Given the description of an element on the screen output the (x, y) to click on. 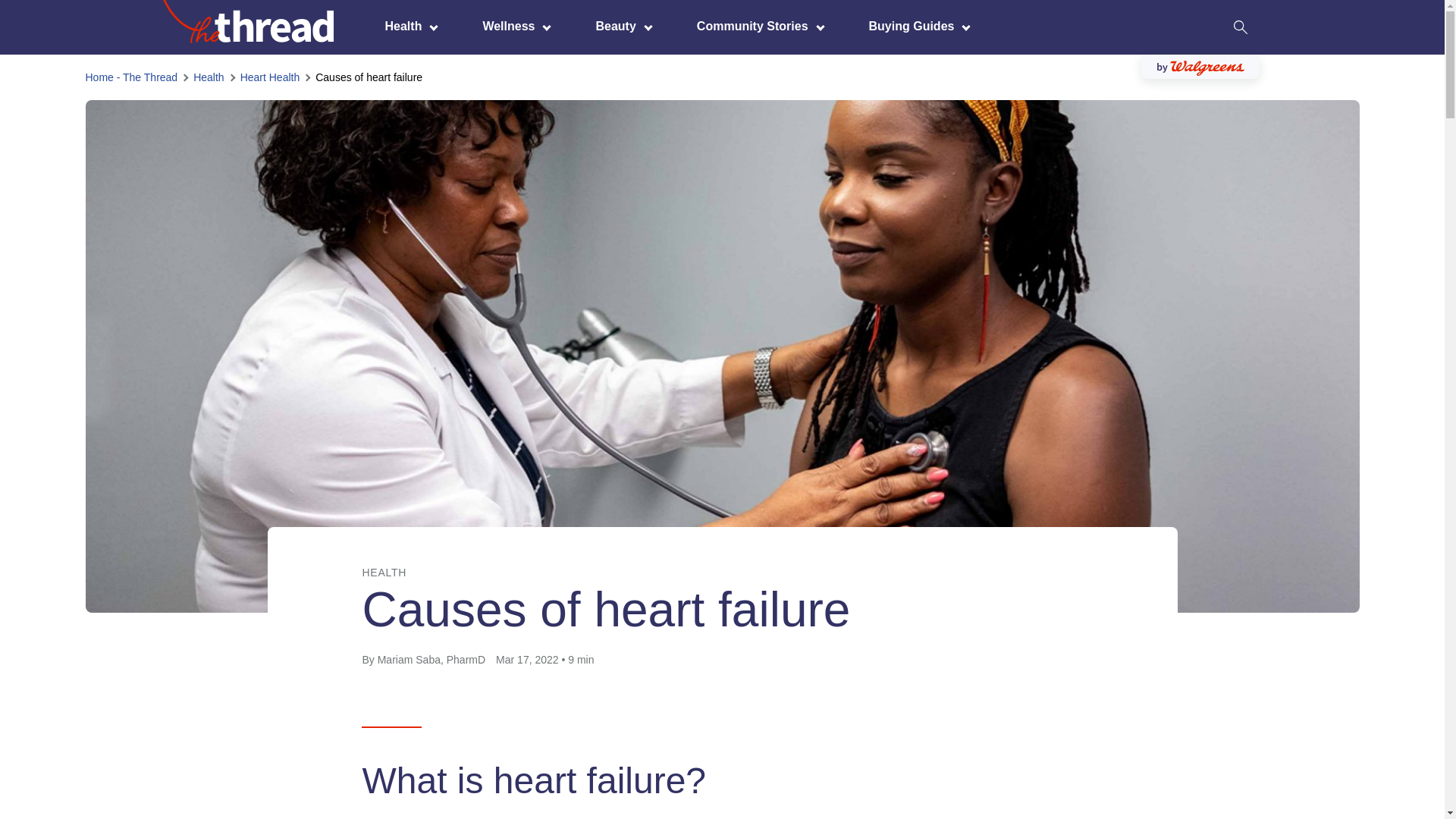
Community Stories (756, 25)
Wellness (512, 25)
Beauty (619, 25)
Health (407, 25)
